Given the description of an element on the screen output the (x, y) to click on. 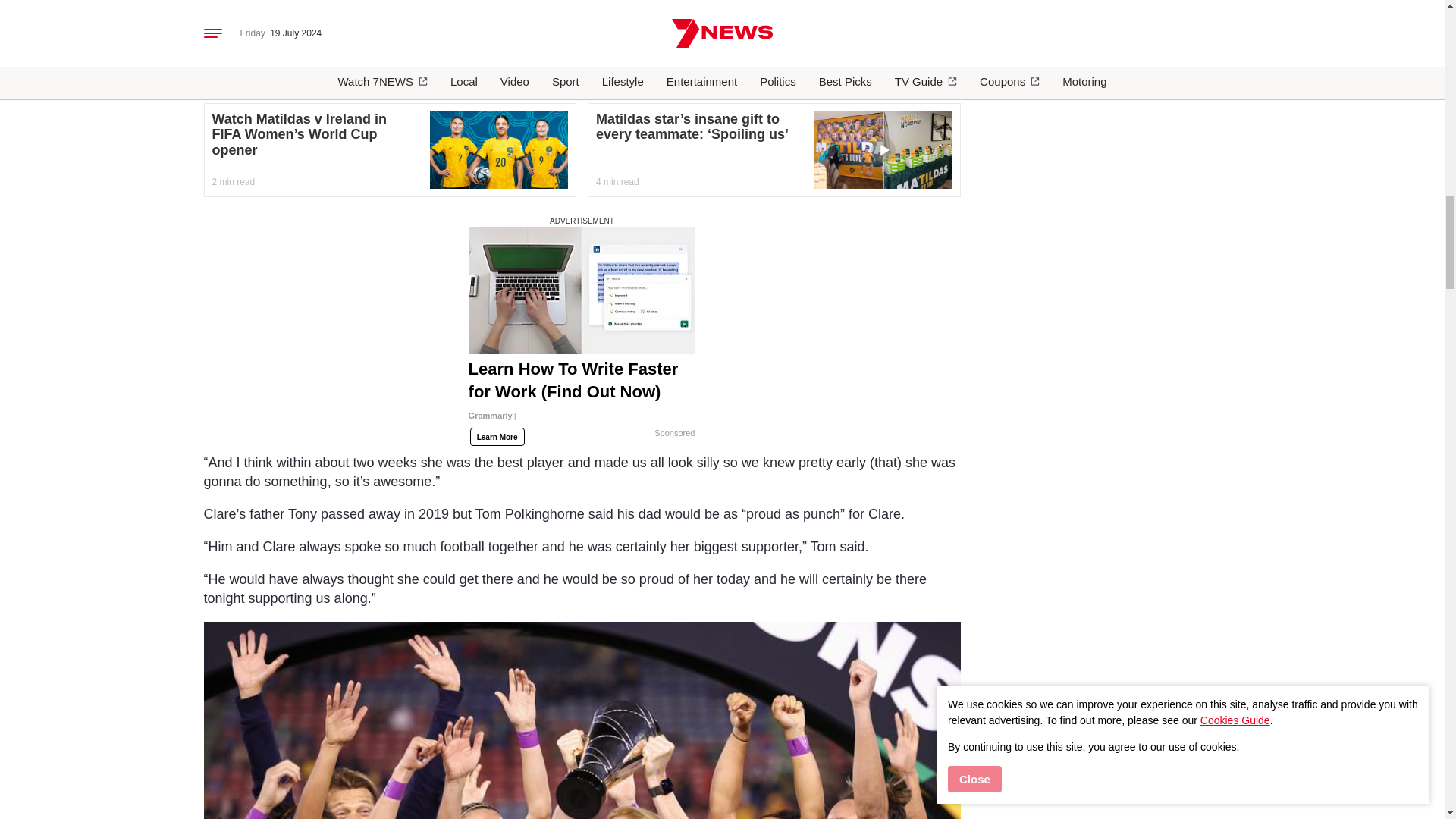
Video (882, 150)
